Given the description of an element on the screen output the (x, y) to click on. 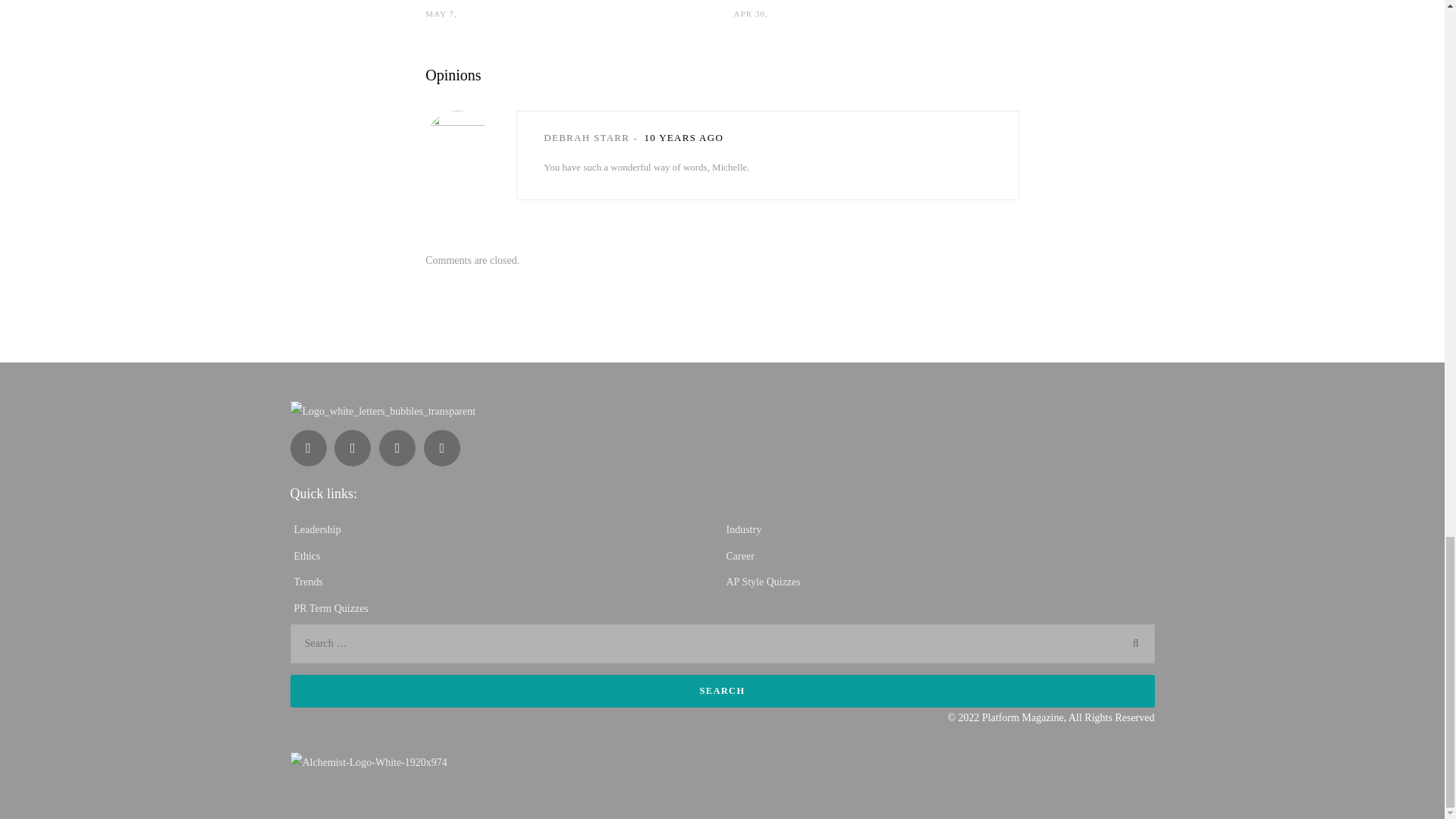
Search (721, 690)
Tuesday, April 30, 2024, 1:39 pm (749, 13)
Tuesday, May 7, 2024, 2:05 pm (439, 13)
Alchemist-Logo-White-1920x974 (367, 762)
Search (721, 690)
Saturday, September 27, 2014, 5:17 pm (684, 137)
